Given the description of an element on the screen output the (x, y) to click on. 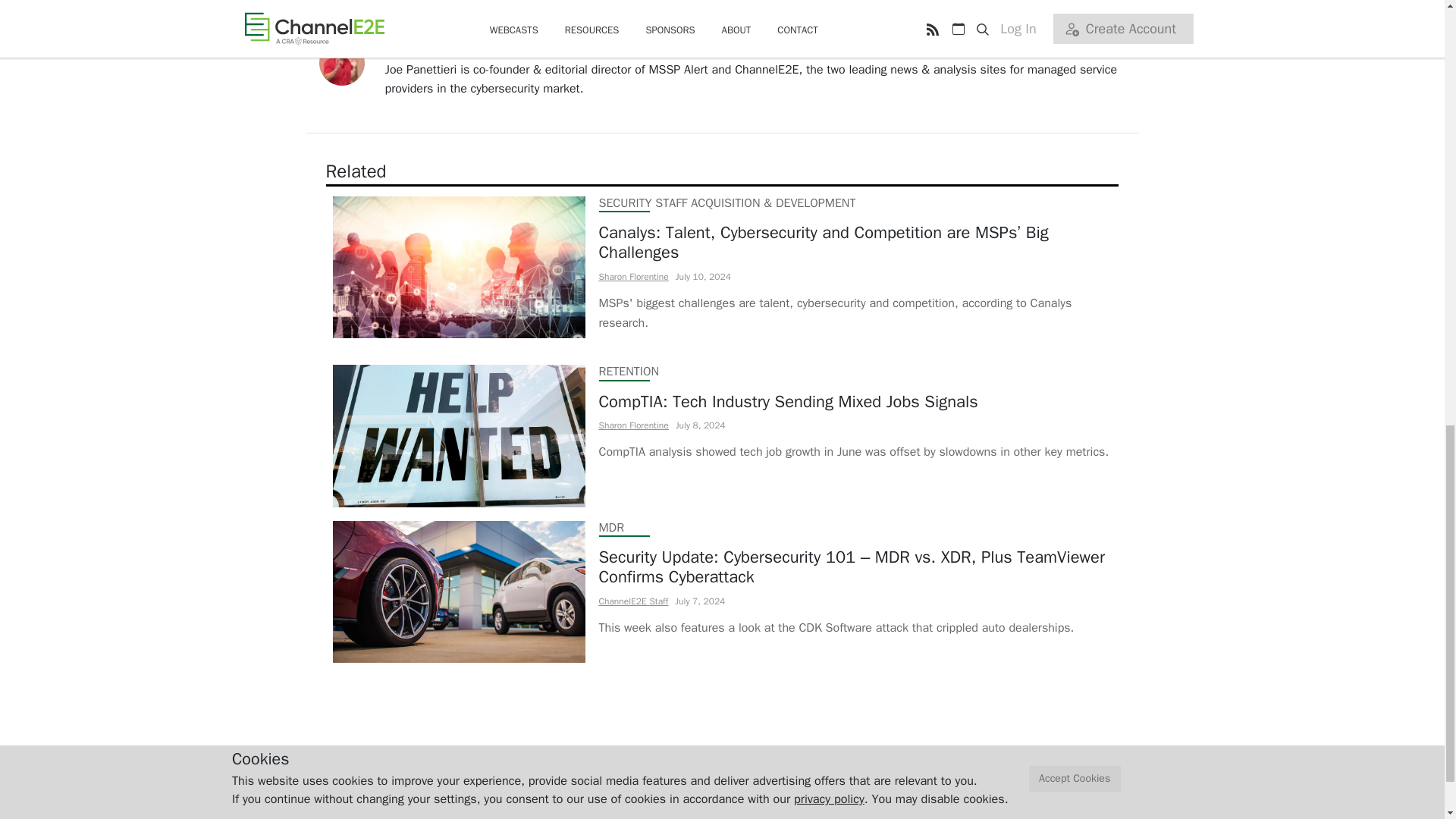
ChannelE2E Staff (633, 601)
Sharon Florentine (633, 276)
MDR (611, 527)
Sharon Florentine (633, 425)
Joe Panettieri (421, 50)
CompTIA: Tech Industry Sending Mixed Jobs Signals (853, 401)
RETENTION (628, 371)
